Given the description of an element on the screen output the (x, y) to click on. 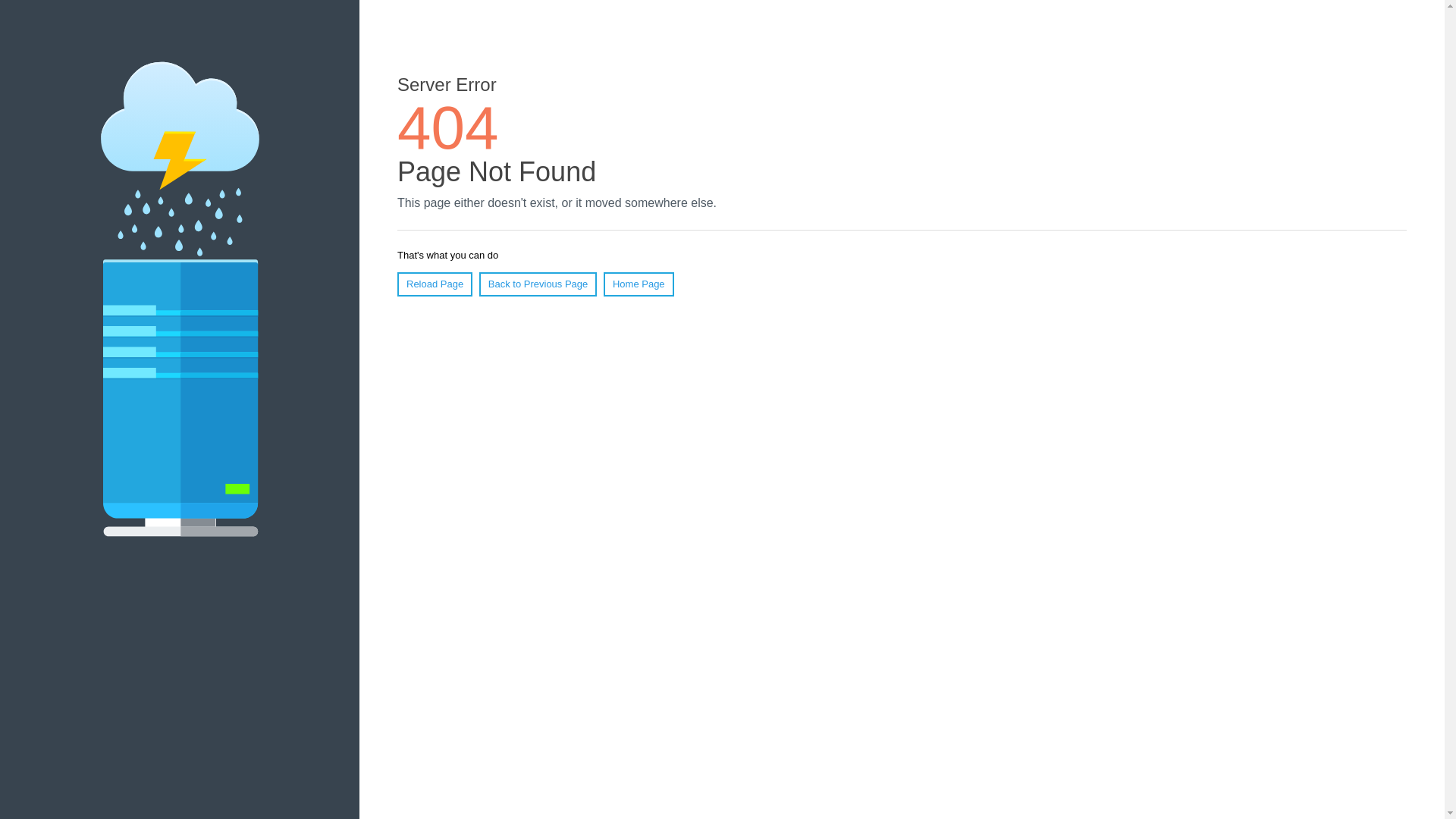
Home Page Element type: text (638, 284)
Reload Page Element type: text (434, 284)
Back to Previous Page Element type: text (538, 284)
